Given the description of an element on the screen output the (x, y) to click on. 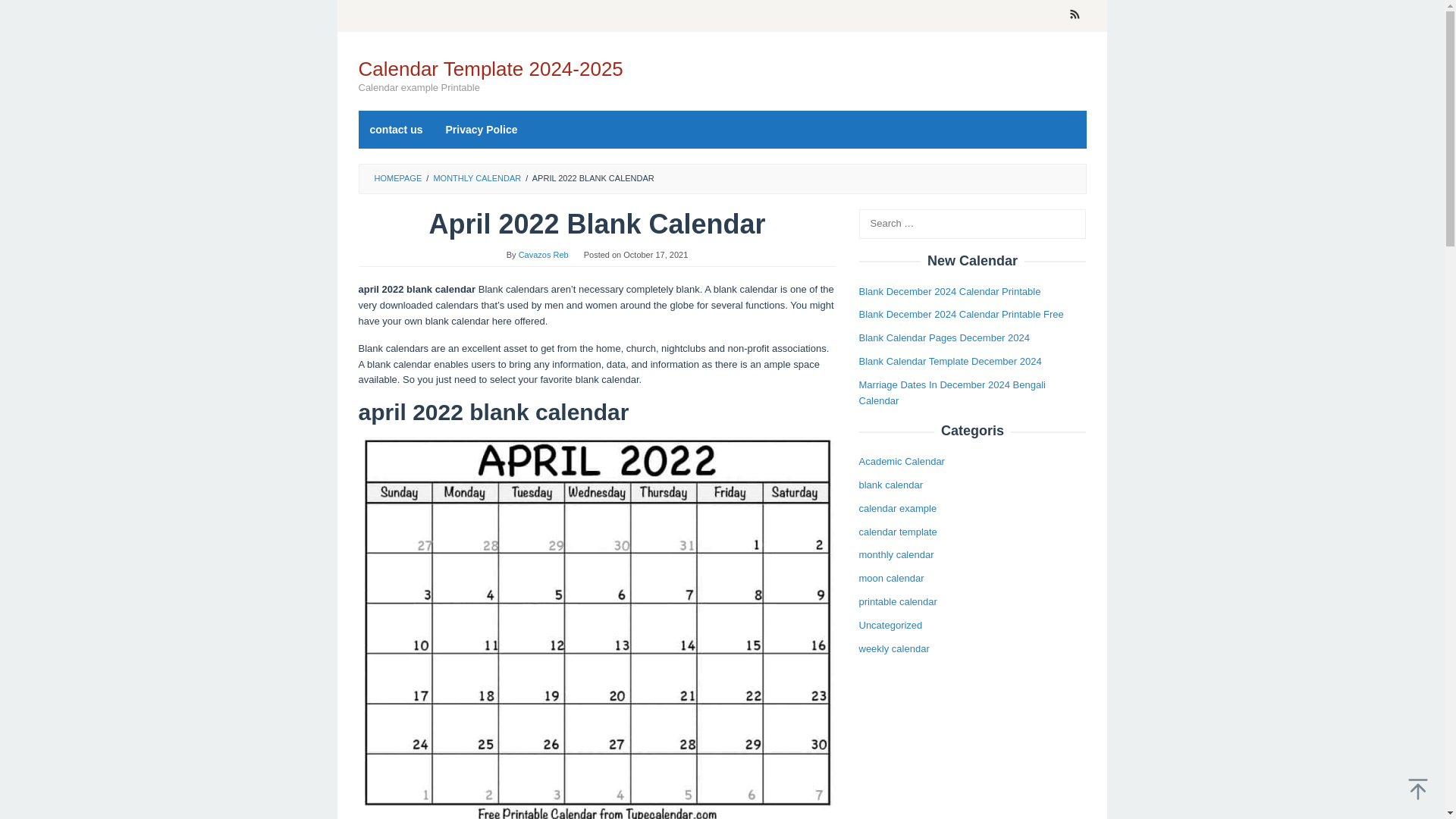
blank calendar (891, 484)
Uncategorized (890, 624)
Marriage Dates In December 2024 Bengali Calendar (952, 392)
contact us (395, 129)
Calendar Template 2024-2025 (490, 68)
MONTHLY CALENDAR (476, 177)
Blank December 2024 Calendar Printable (950, 291)
Cavazos Reb (543, 254)
Academic Calendar (901, 460)
